Given the description of an element on the screen output the (x, y) to click on. 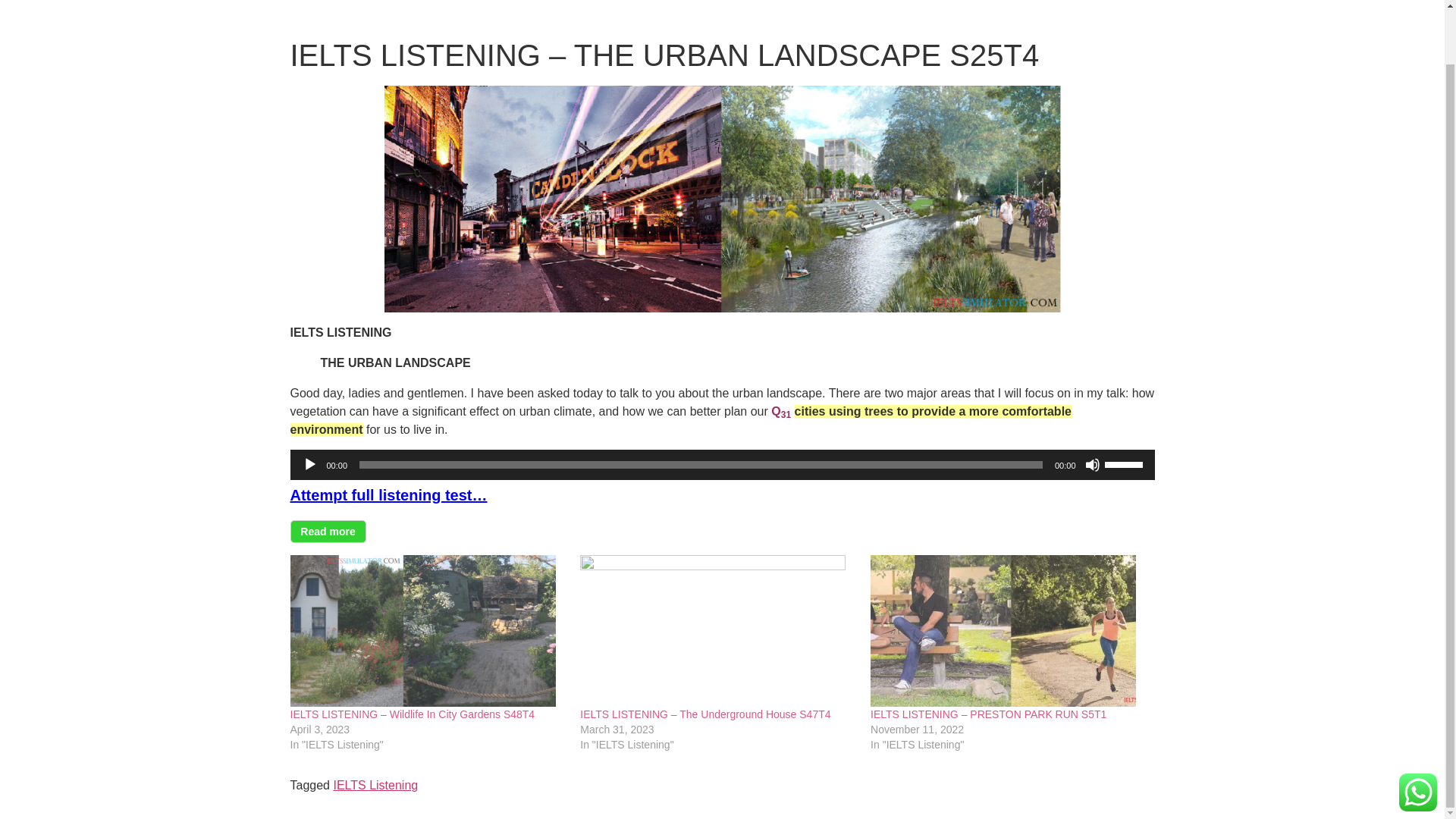
Read More (327, 531)
Play (309, 464)
Mute (1091, 464)
IELTS Listening (375, 784)
